Given the description of an element on the screen output the (x, y) to click on. 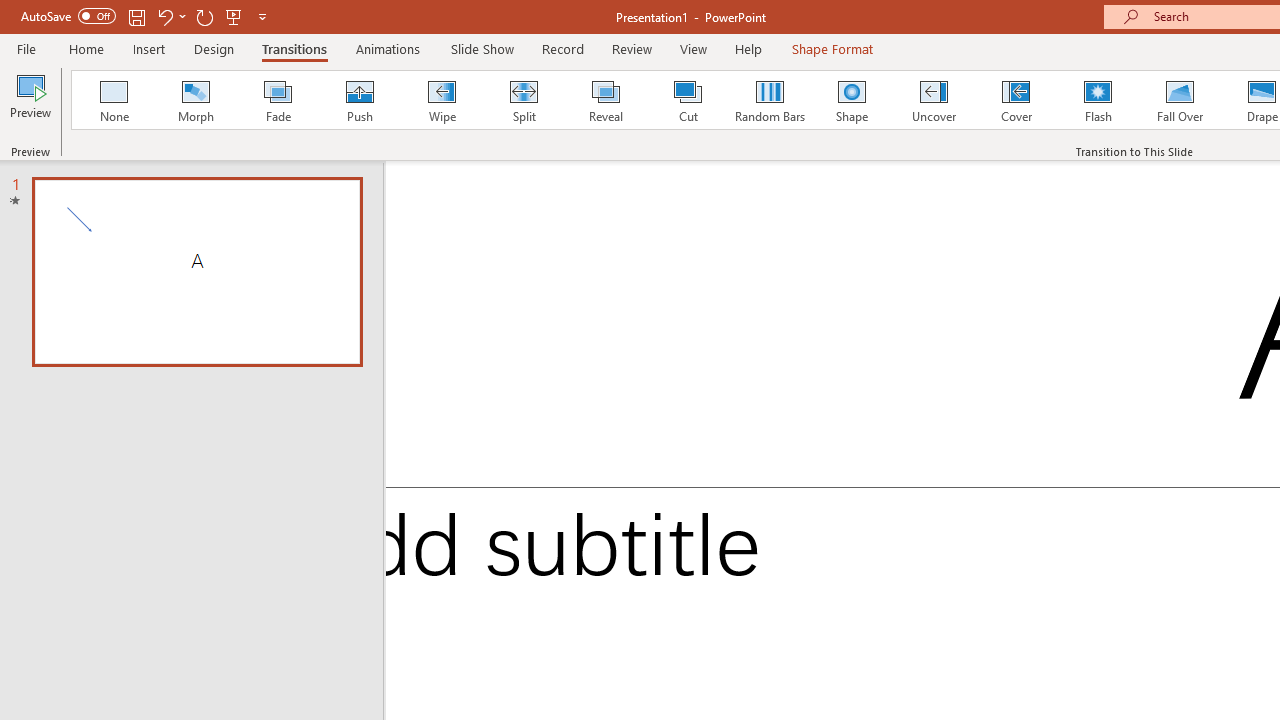
Fall Over (1180, 100)
Push (359, 100)
Fade (277, 100)
Split (523, 100)
Random Bars (770, 100)
